Given the description of an element on the screen output the (x, y) to click on. 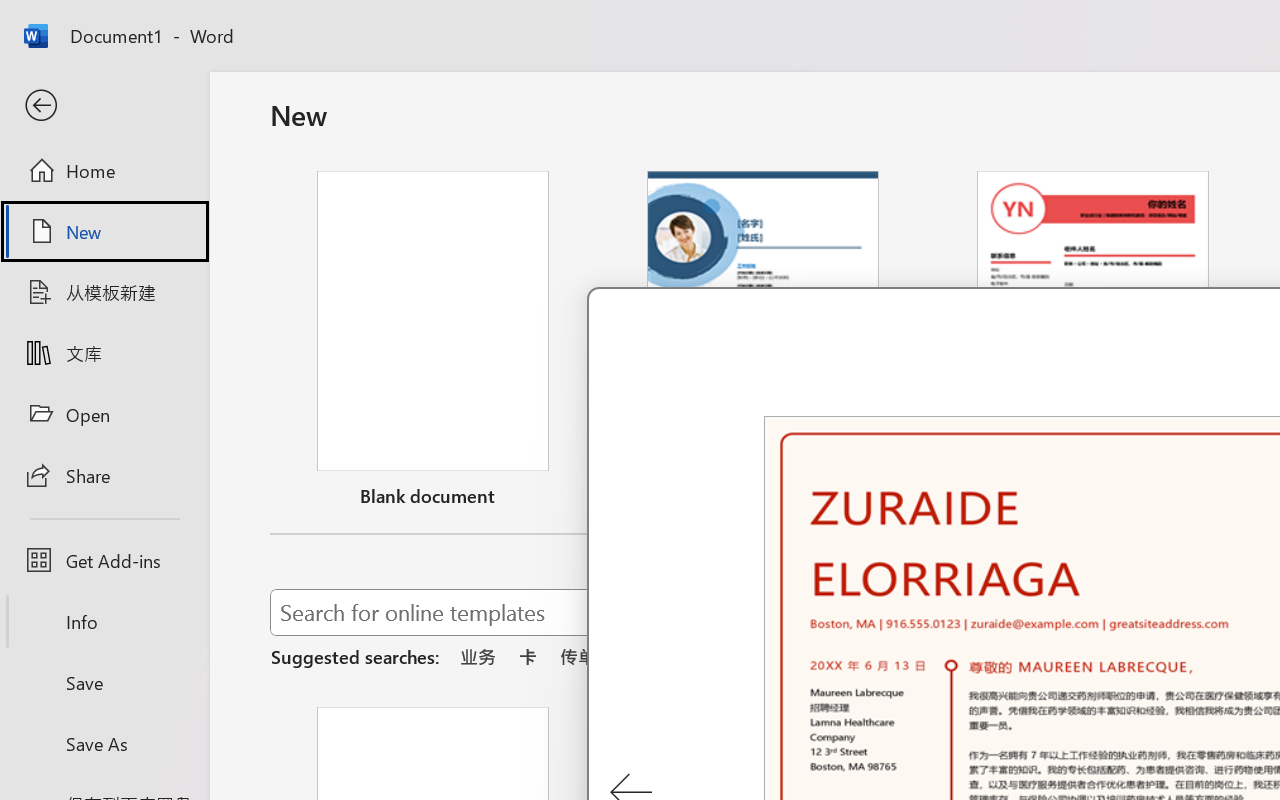
Search for online templates (718, 615)
Blank document (433, 343)
Get Add-ins (104, 560)
